Given the description of an element on the screen output the (x, y) to click on. 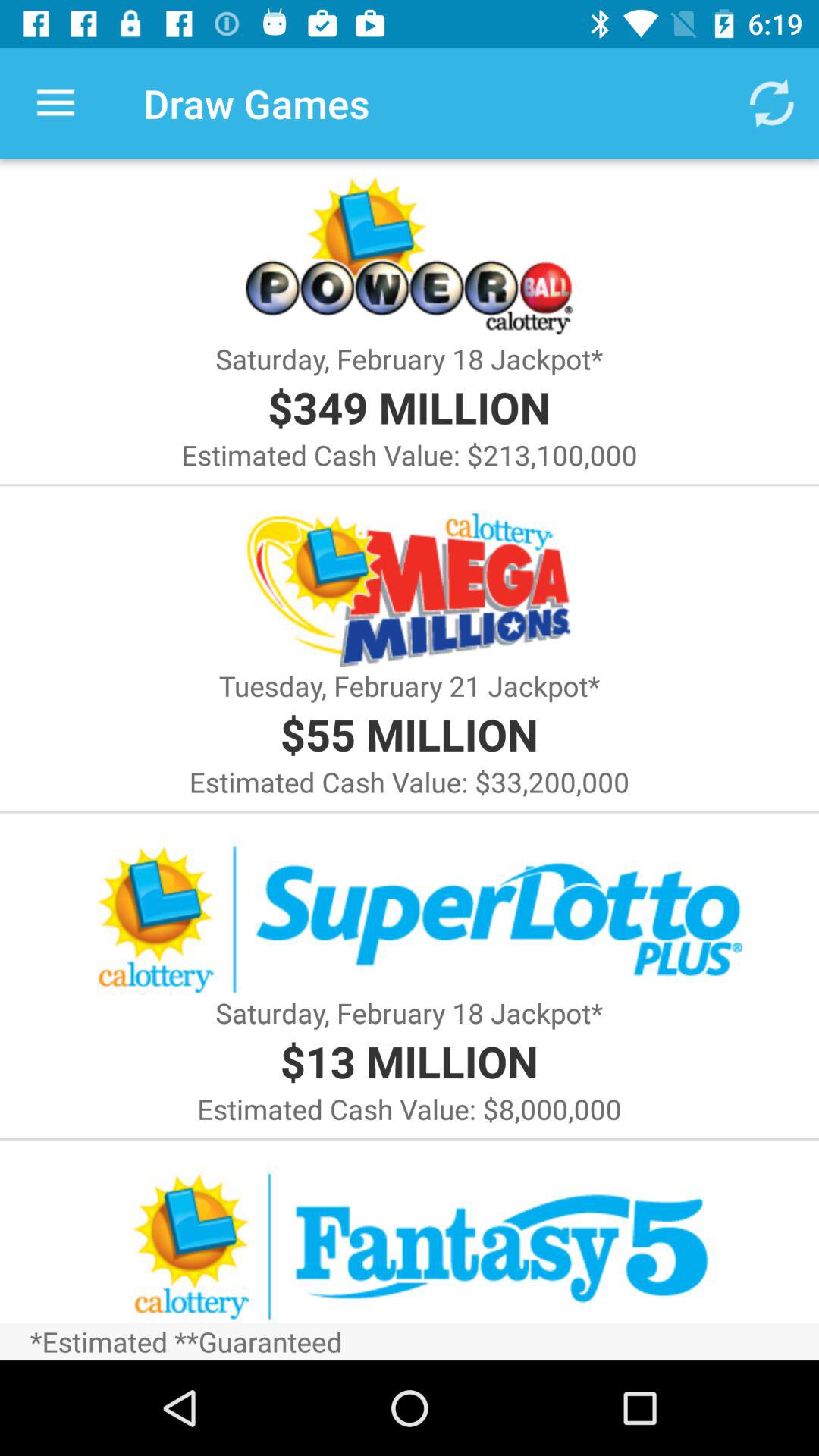
turn on item above estimated cash value item (408, 406)
